Given the description of an element on the screen output the (x, y) to click on. 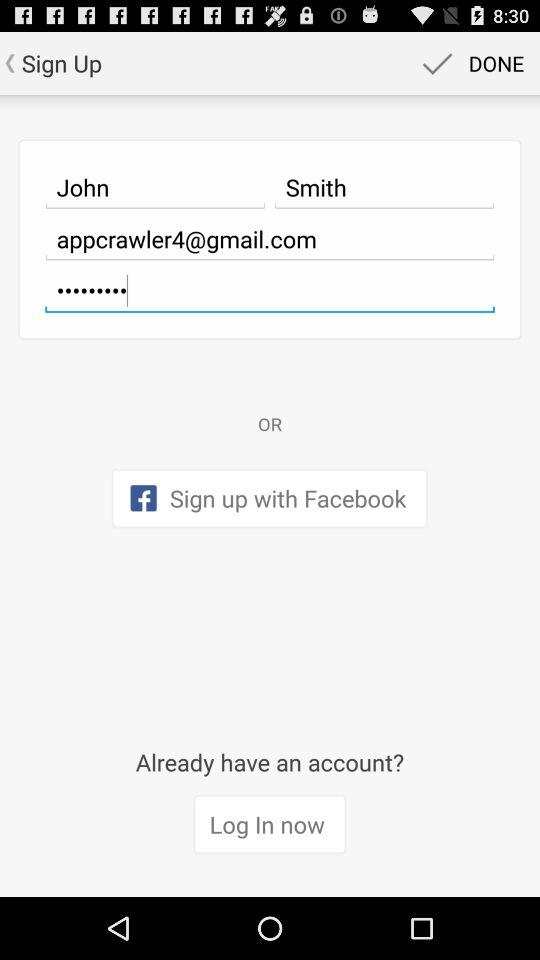
open the crowd3116 icon (269, 290)
